Given the description of an element on the screen output the (x, y) to click on. 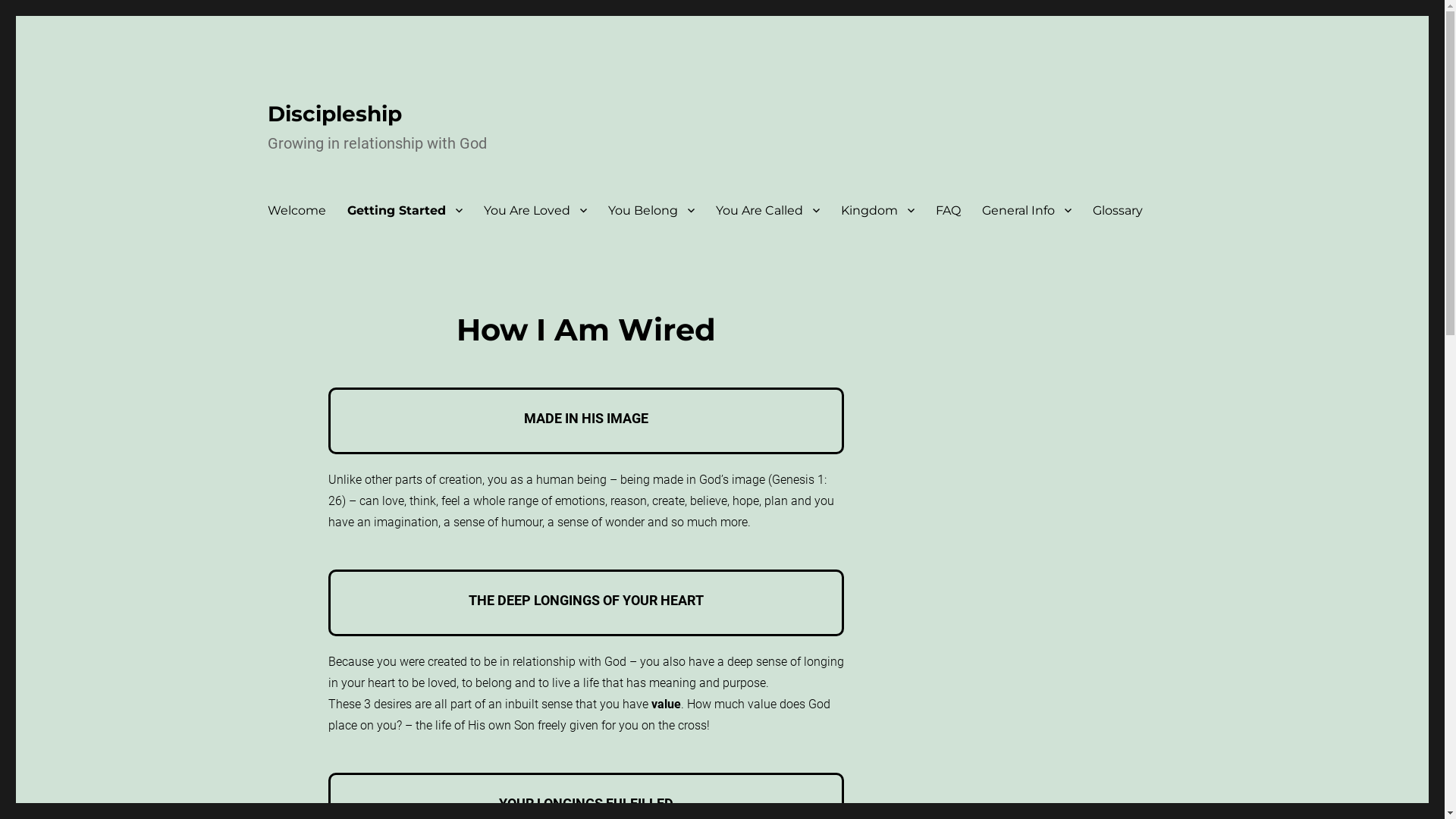
Glossary Element type: text (1116, 209)
You Belong Element type: text (651, 209)
Kingdom Element type: text (876, 209)
Discipleship Element type: text (333, 113)
Welcome Element type: text (295, 209)
You Are Called Element type: text (767, 209)
Getting Started Element type: text (404, 209)
You Are Loved Element type: text (535, 209)
FAQ Element type: text (948, 209)
General Info Element type: text (1025, 209)
